Given the description of an element on the screen output the (x, y) to click on. 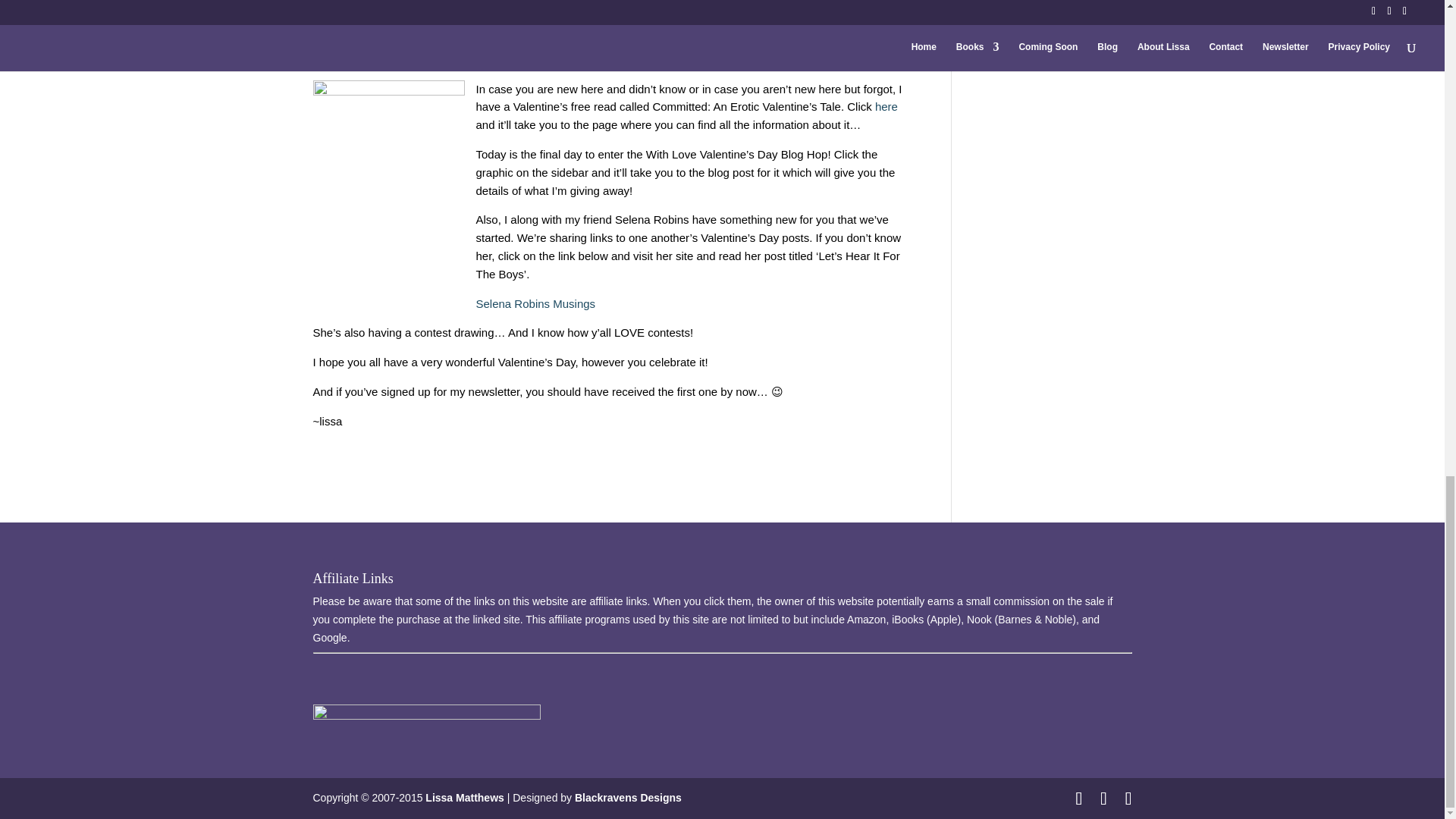
Selena Robins Musings (535, 302)
here (886, 106)
Blackravens Designs (628, 797)
Lissa Matthews (464, 797)
